Given the description of an element on the screen output the (x, y) to click on. 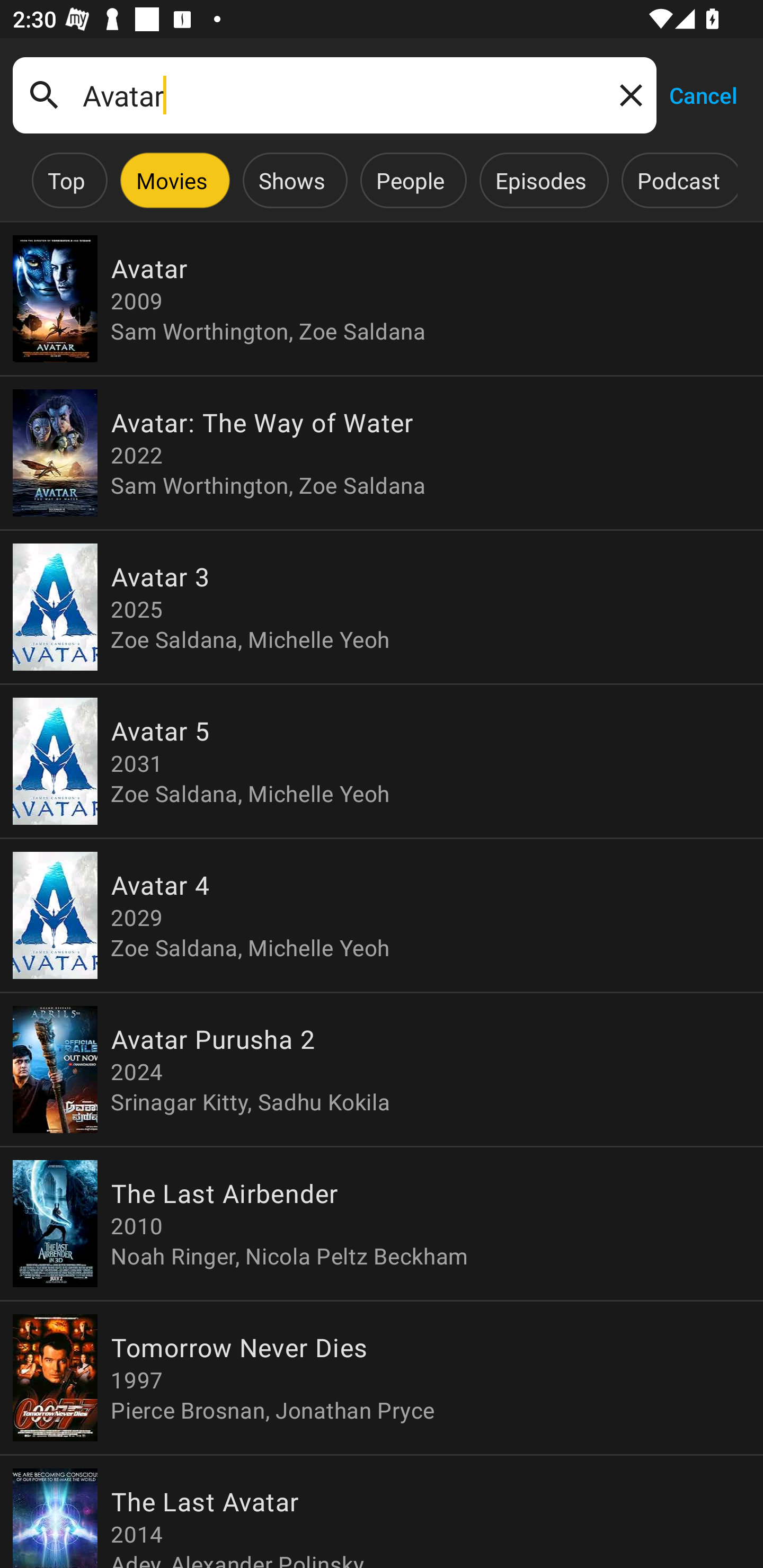
Clear query (627, 94)
Cancel (703, 94)
Avatar (334, 95)
Top (66, 180)
Movies (171, 180)
Shows (291, 180)
People (410, 180)
Episodes (540, 180)
Podcast (678, 180)
Avatar 2009 Sam Worthington, Zoe Saldana (381, 298)
Avatar 3 2025 Zoe Saldana, Michelle Yeoh (381, 607)
Avatar 5 2031 Zoe Saldana, Michelle Yeoh (381, 761)
Avatar 4 2029 Zoe Saldana, Michelle Yeoh (381, 914)
Avatar Purusha 2 2024 Srinagar Kitty, Sadhu Kokila (381, 1069)
The Last Avatar 2014 Adey, Alexander Polinsky (381, 1511)
